Given the description of an element on the screen output the (x, y) to click on. 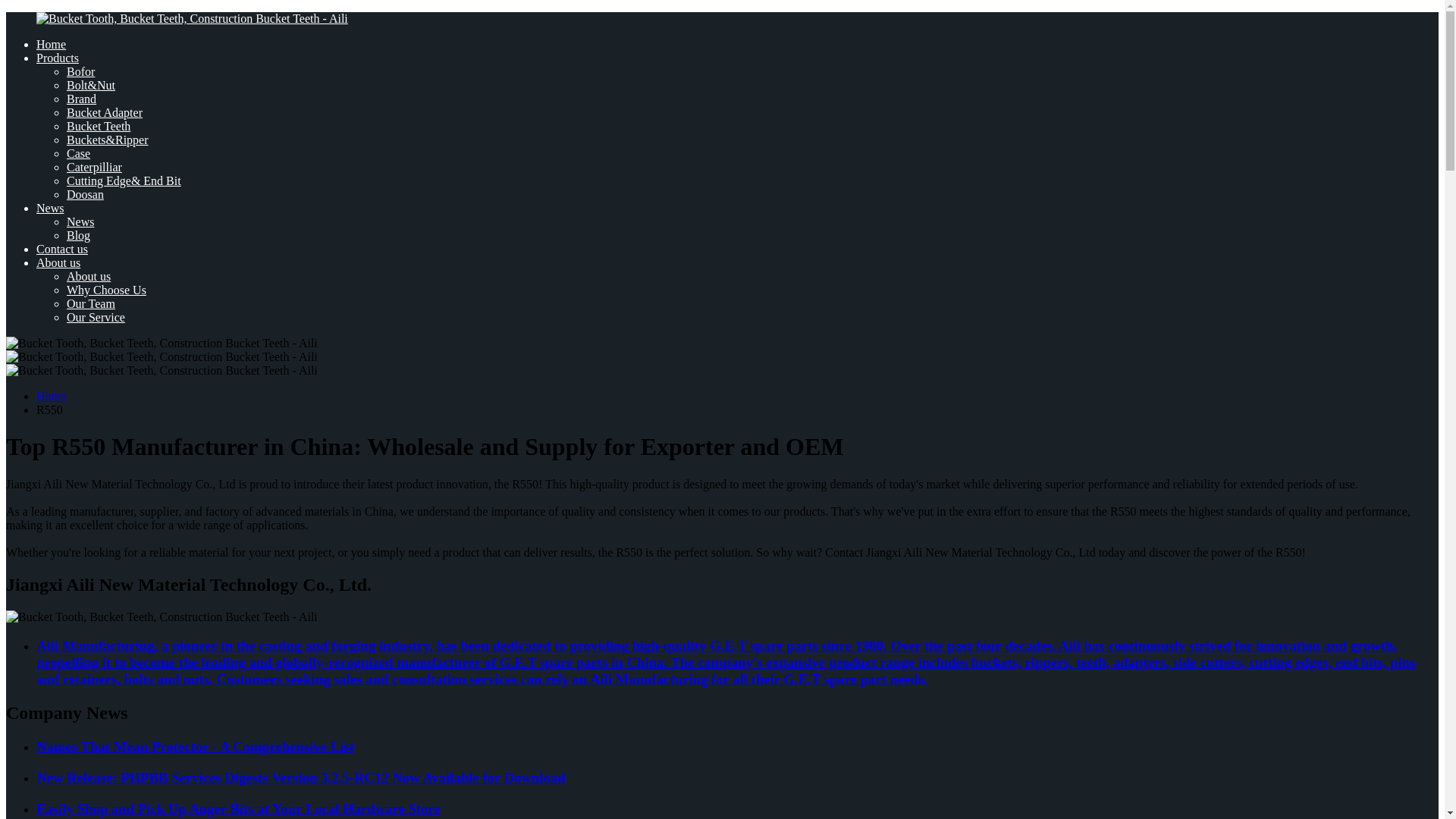
Our Service (95, 317)
Why Choose Us (106, 289)
Bucket Teeth (98, 125)
Bucket Adapter (104, 112)
Home (50, 395)
Our Team (90, 303)
Caterpilliar (94, 166)
Bofor (80, 71)
Products (57, 57)
About us (88, 276)
